Given the description of an element on the screen output the (x, y) to click on. 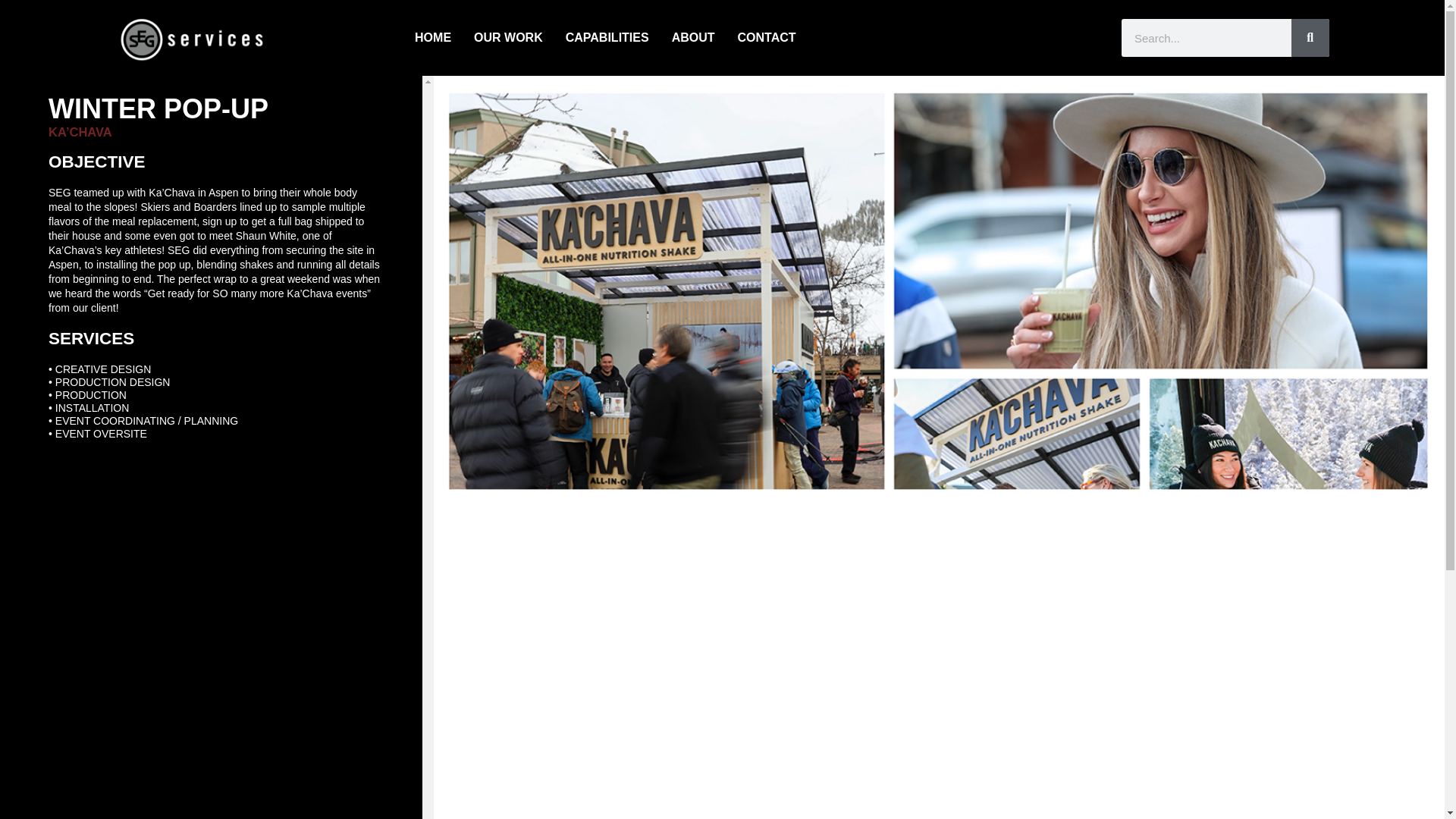
HOME (432, 37)
CONTACT (767, 37)
ABOUT (692, 37)
OUR WORK (508, 37)
CAPABILITIES (607, 37)
